Given the description of an element on the screen output the (x, y) to click on. 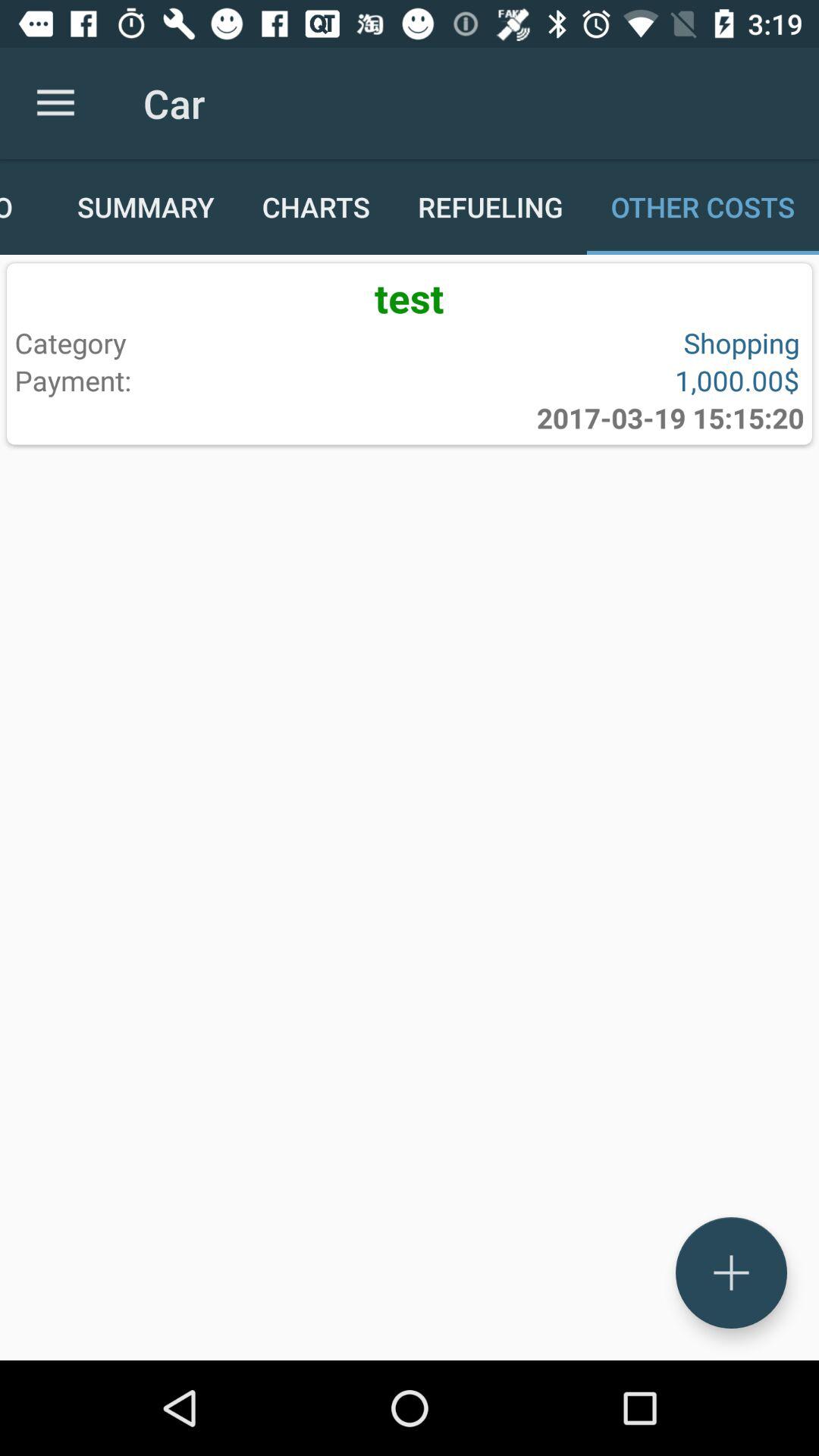
open 2017 03 19 (670, 417)
